Given the description of an element on the screen output the (x, y) to click on. 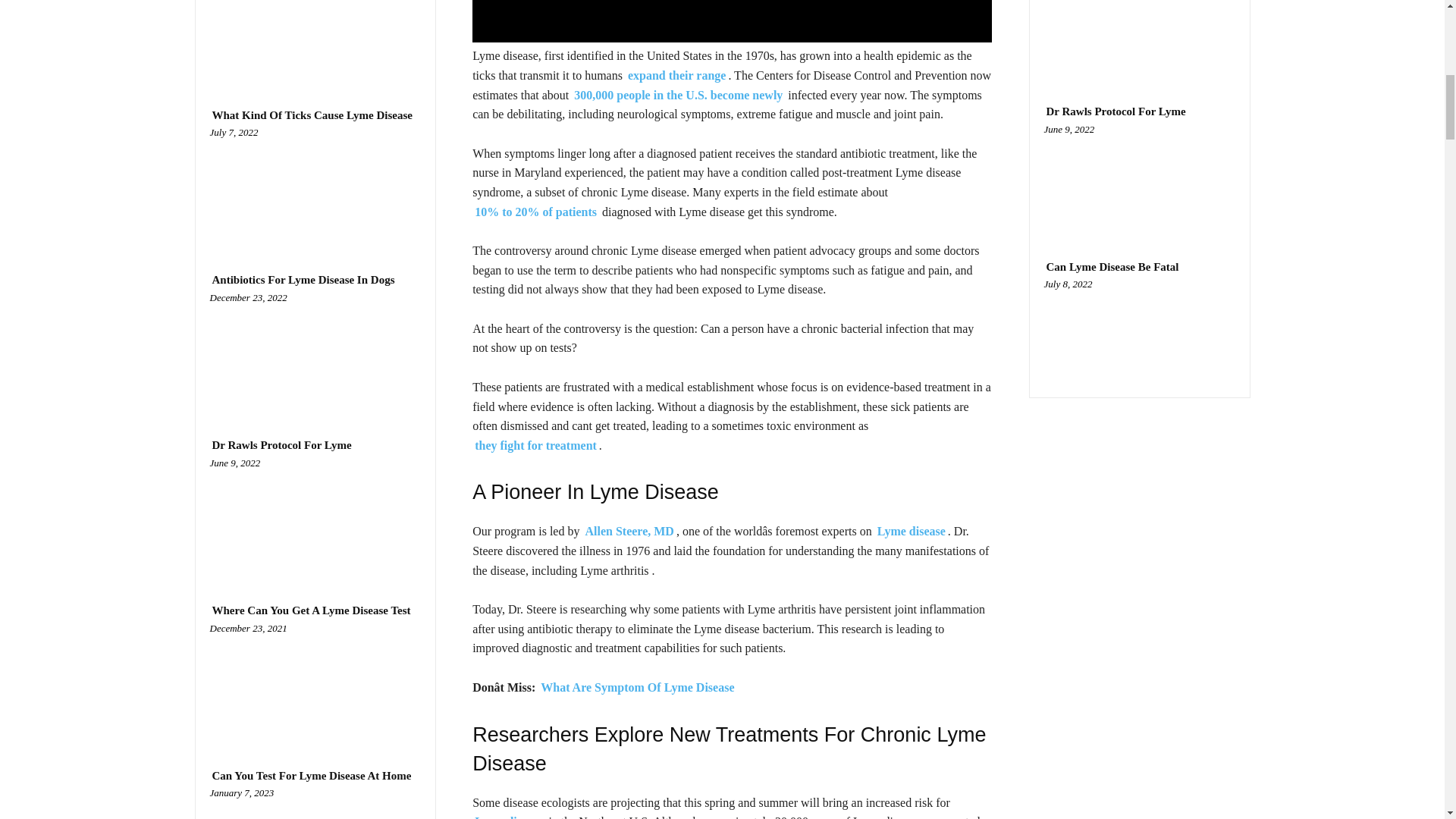
What Kind Of Ticks Cause Lyme Disease (314, 187)
Treating Lyme Disease After Years (314, 38)
What Kind Of Ticks Cause Lyme Disease (311, 115)
